Given the description of an element on the screen output the (x, y) to click on. 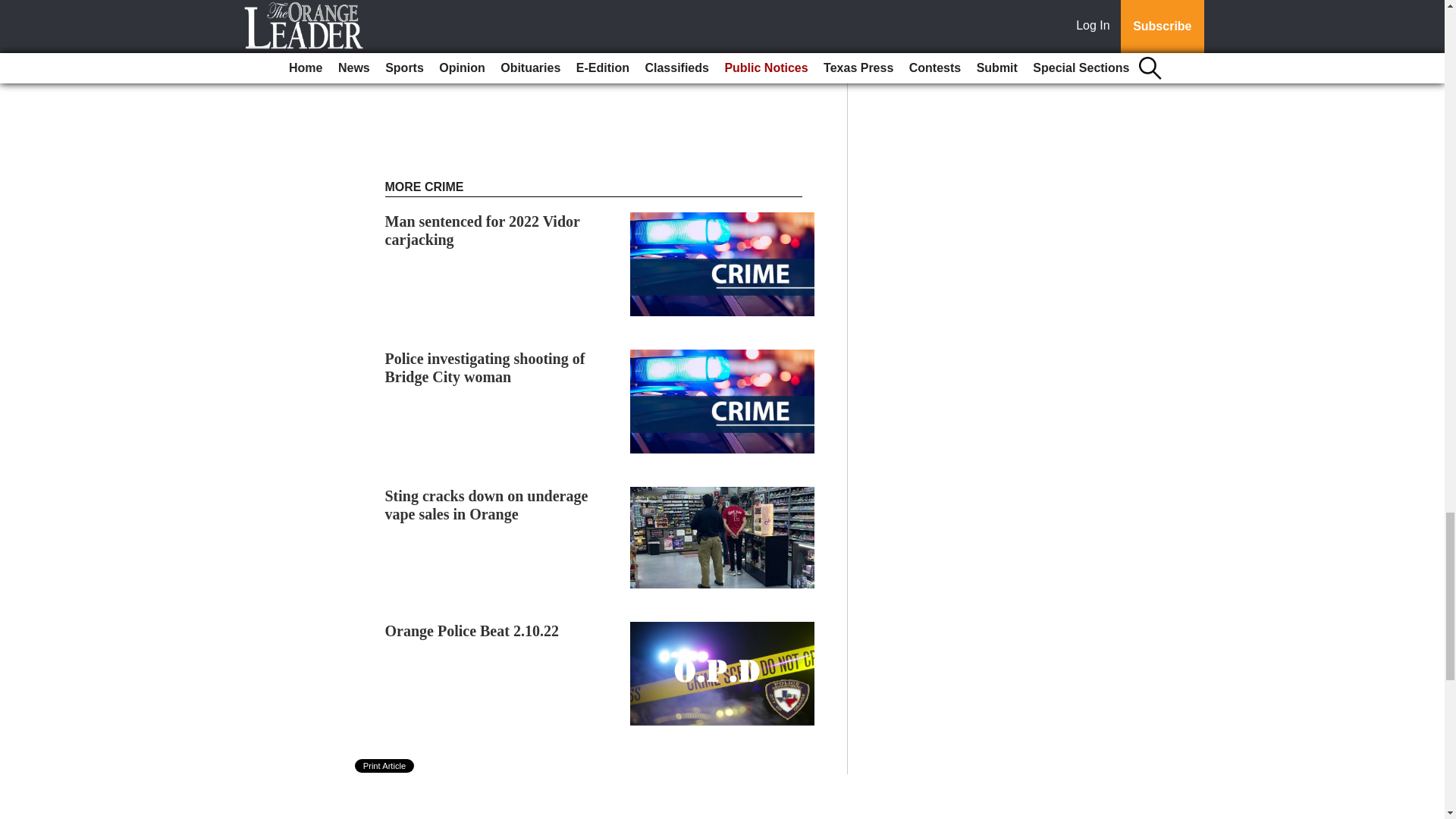
Man sentenced for 2022 Vidor carjacking (482, 230)
Police investigating shooting of Bridge City woman (485, 367)
Man sentenced for 2022 Vidor carjacking (482, 230)
Orange Police Beat 2.10.22 (472, 630)
Orange Police Beat 2.10.22 (472, 630)
Sting cracks down on underage vape sales in Orange (486, 504)
Police investigating shooting of Bridge City woman (485, 367)
Sting cracks down on underage vape sales in Orange (486, 504)
Print Article (384, 766)
